Given the description of an element on the screen output the (x, y) to click on. 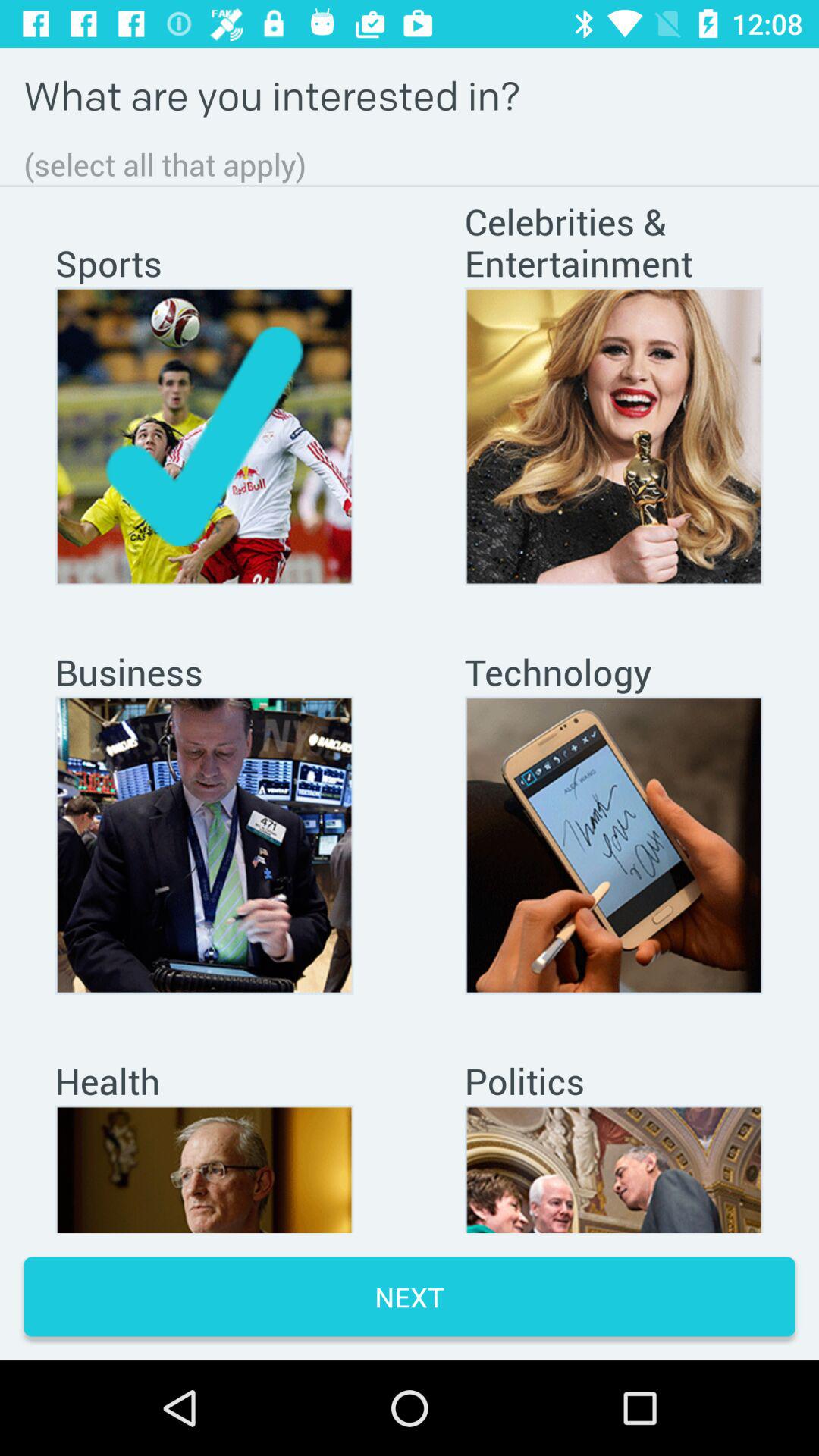
scroll to next item (409, 1296)
